Given the description of an element on the screen output the (x, y) to click on. 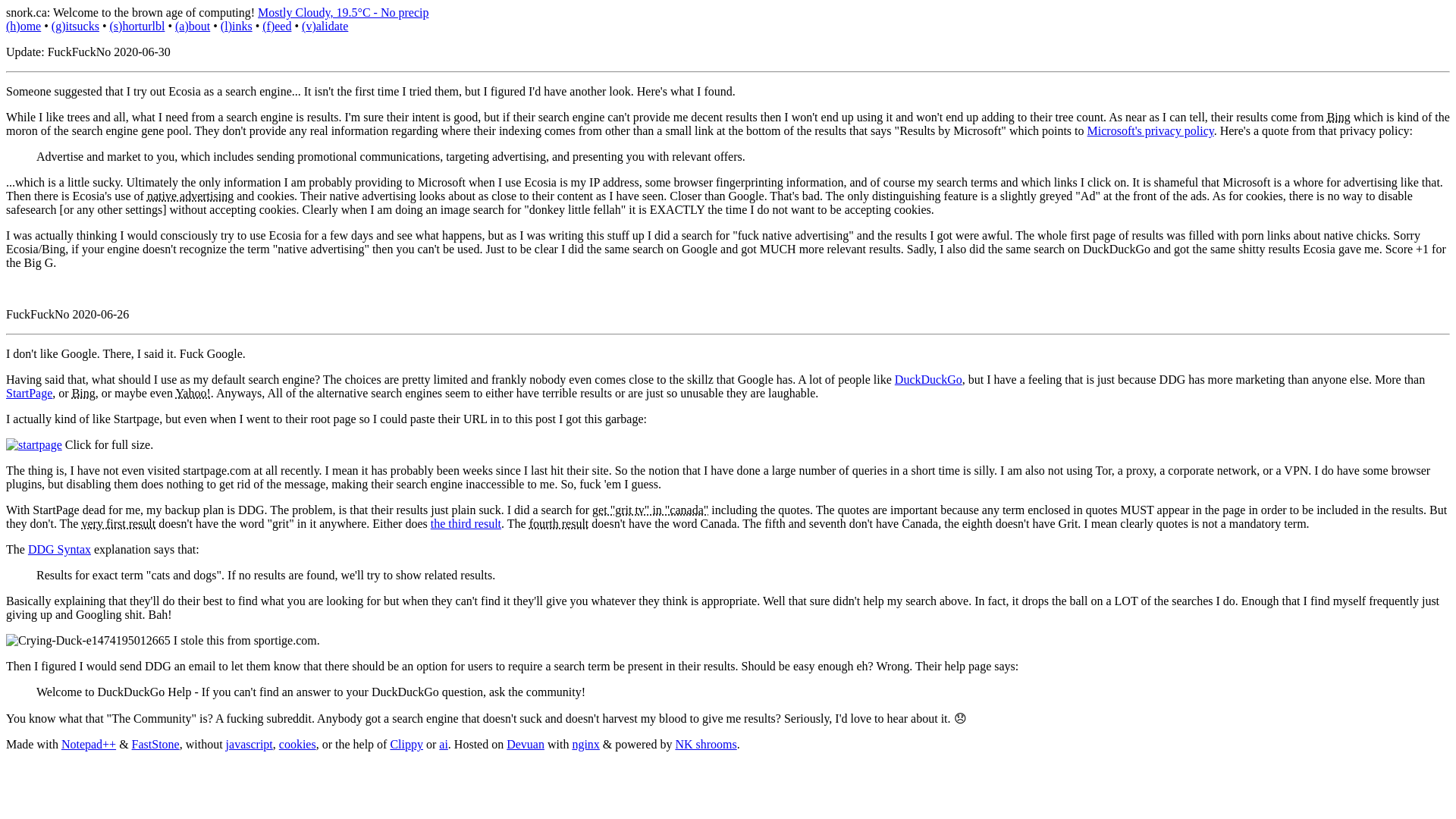
Microsoft's privacy policy (1150, 130)
DuckDuckGo (928, 379)
DDG Syntax (58, 549)
I don't want to link to this one either (191, 392)
StartPage (28, 392)
the third result (465, 522)
How is Bing still a thing? (1338, 116)
Seriously, who uses Bing? (83, 392)
Everyone should watch Grit TV (649, 509)
